Given the description of an element on the screen output the (x, y) to click on. 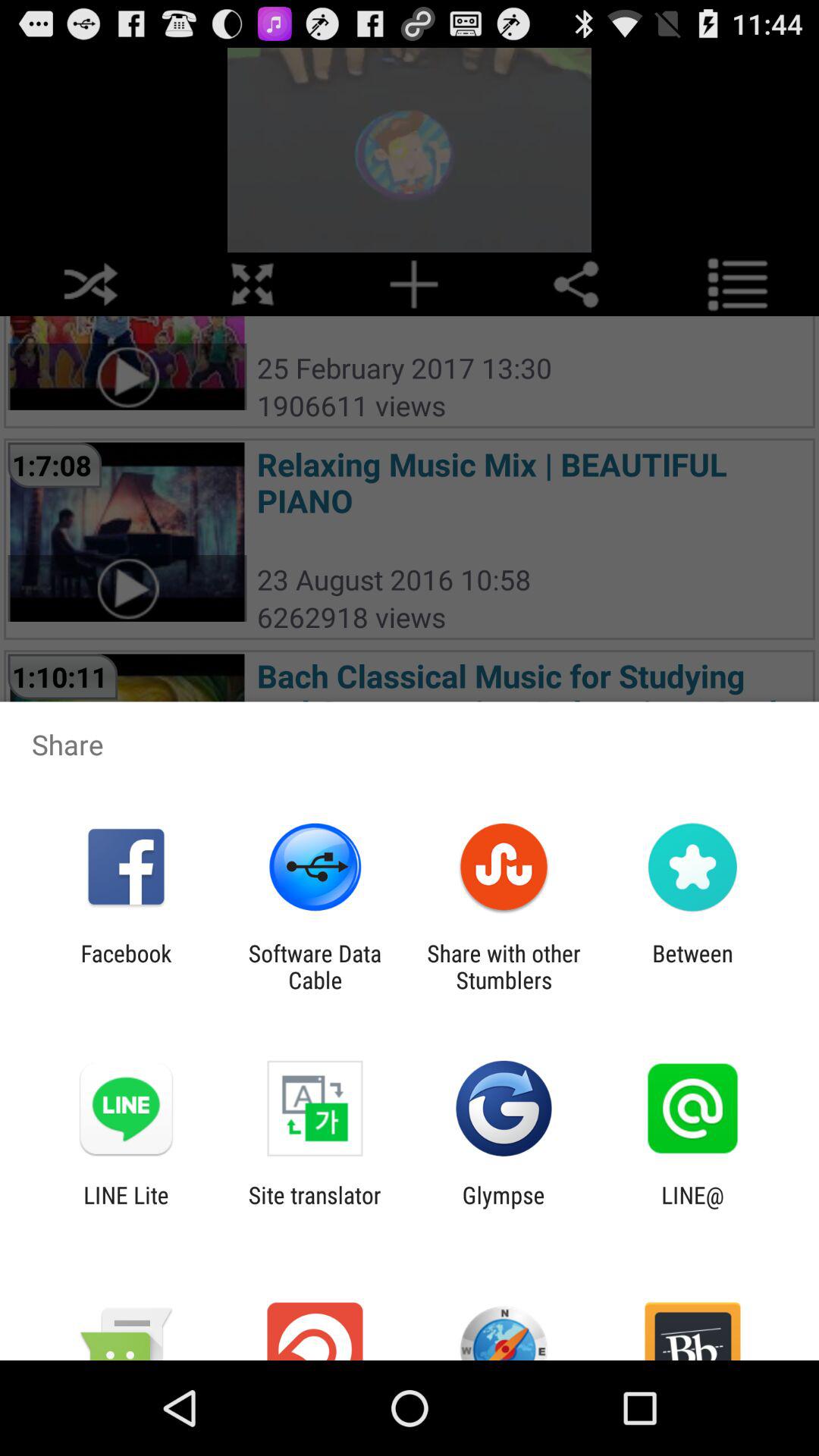
choose icon to the left of between app (503, 966)
